Given the description of an element on the screen output the (x, y) to click on. 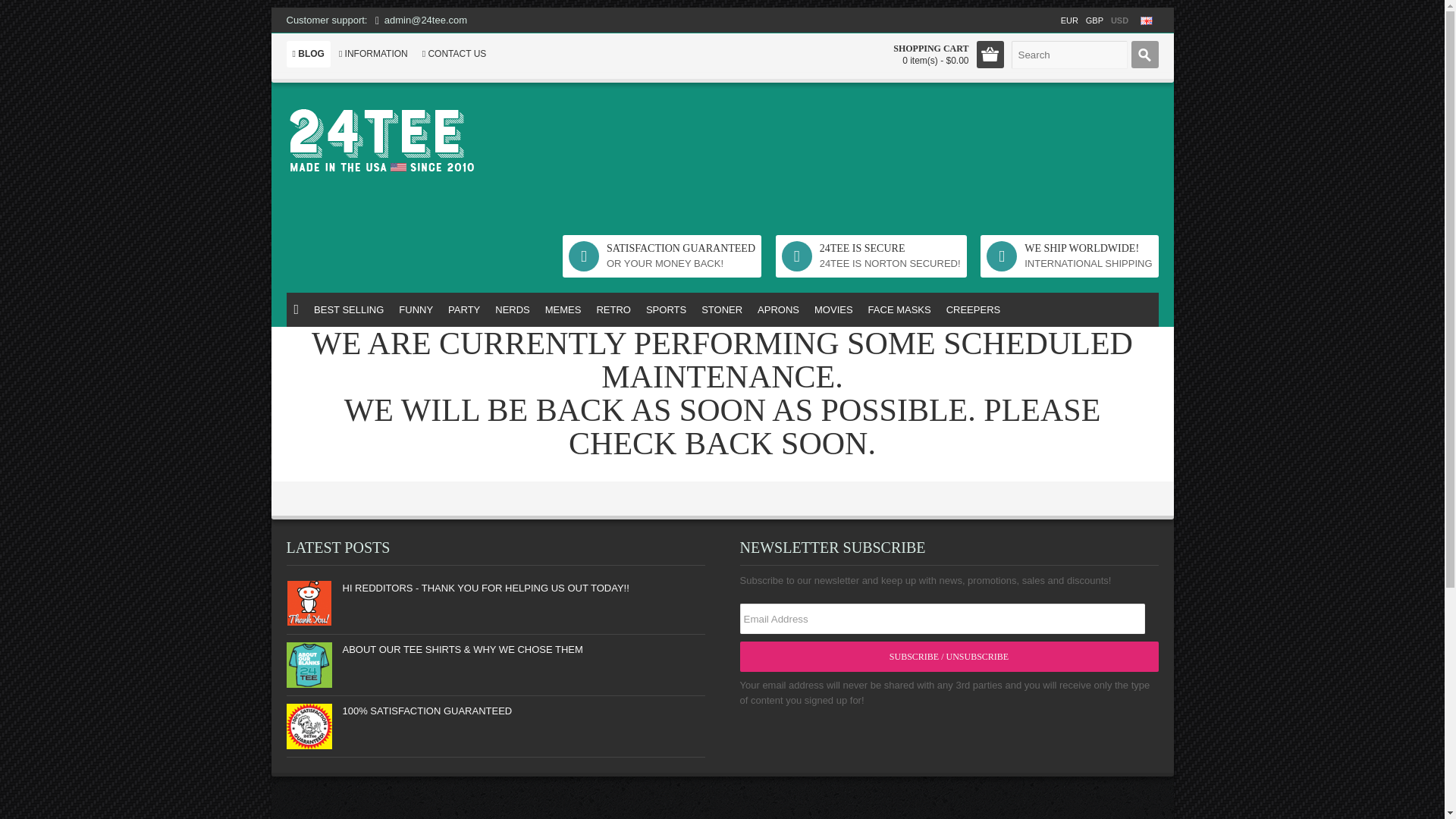
Euro (1069, 20)
BLOG (308, 53)
FUNNY (416, 309)
24TEE LLC (418, 140)
WE SHIP WORLDWIDE! (1088, 248)
EUR (1069, 20)
Pound Sterling (1094, 20)
MEMES (563, 309)
English (1146, 20)
SATISFACTION GUARANTEED (681, 248)
PARTY (464, 309)
RETRO (613, 309)
24TEE IS SECURE (889, 248)
Hi Redditors - Thank You For Helping Us Out Today!! (308, 603)
USD (1119, 20)
